Given the description of an element on the screen output the (x, y) to click on. 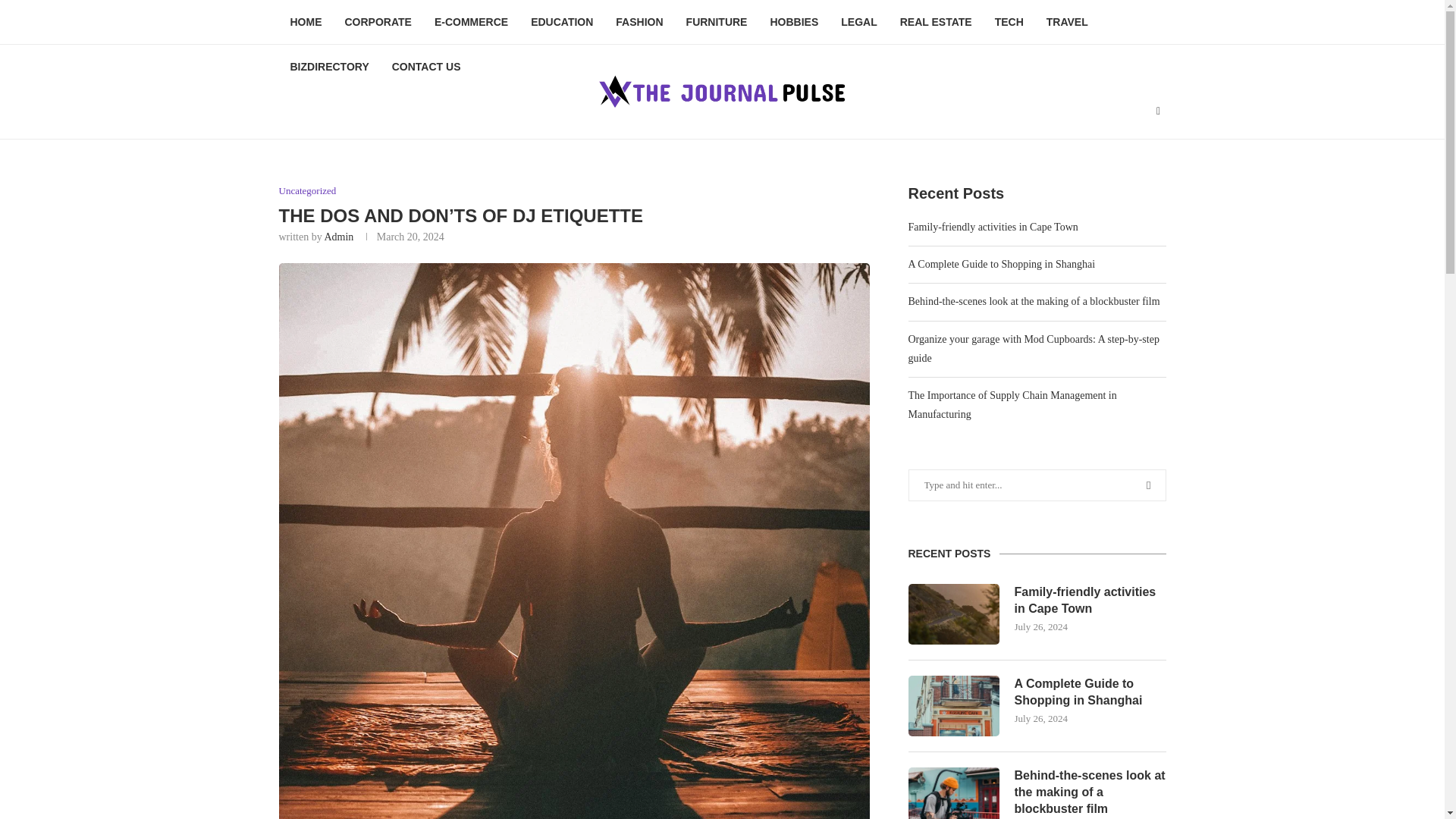
CORPORATE (378, 22)
EDUCATION (561, 22)
HOME (306, 22)
CONTACT US (425, 67)
FASHION (639, 22)
FURNITURE (716, 22)
E-COMMERCE (471, 22)
TRAVEL (1067, 22)
LEGAL (858, 22)
Admin (338, 236)
Uncategorized (307, 191)
REAL ESTATE (936, 22)
BIZDIRECTORY (329, 67)
HOBBIES (793, 22)
TECH (1009, 22)
